Given the description of an element on the screen output the (x, y) to click on. 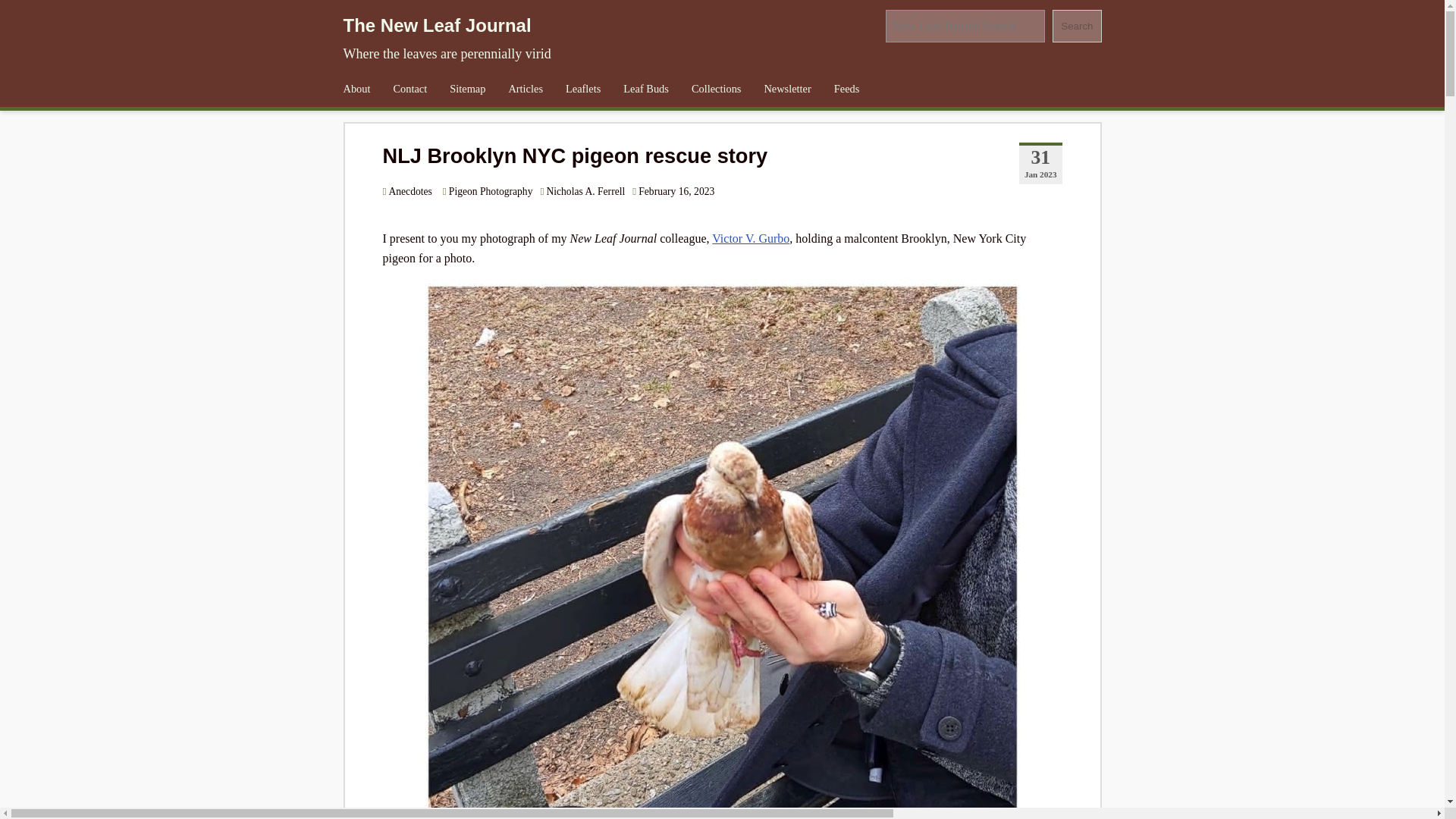
Feeds (846, 89)
Victor V. Gurbo (750, 237)
Contact (409, 89)
Newsletter (787, 89)
The New Leaf Journal (436, 25)
Articles (525, 89)
About (356, 89)
Pigeon Photography (487, 191)
The New Leaf Journal (436, 25)
Collections (715, 89)
Search (1076, 26)
Leaf Buds (645, 89)
Sitemap (467, 89)
Leaflets (582, 89)
Nicholas A. Ferrell (585, 191)
